Given the description of an element on the screen output the (x, y) to click on. 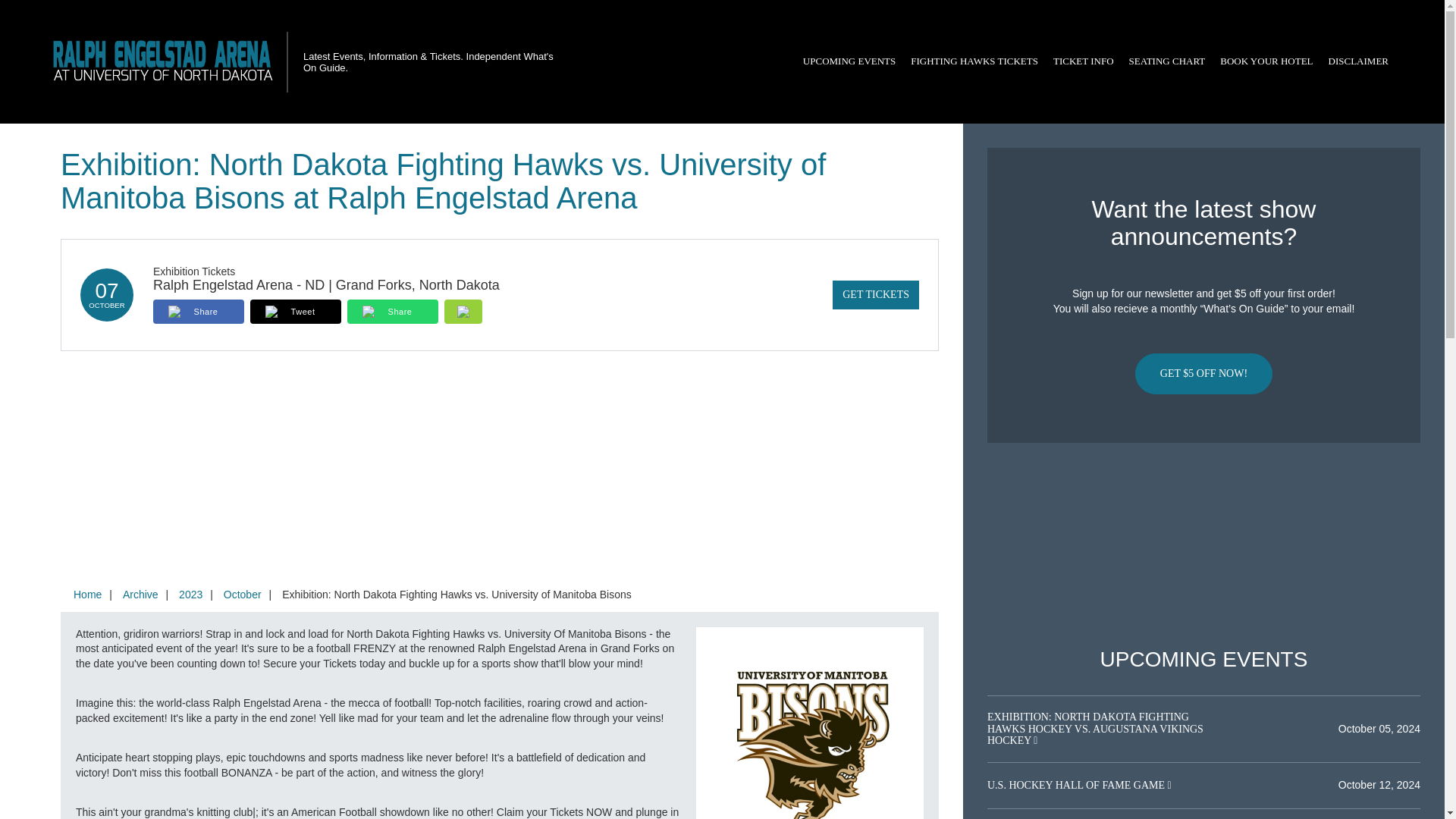
Archive (140, 594)
SEATING CHART (1166, 61)
GET TICKETS (875, 294)
BOOK YOUR HOTEL (1266, 61)
Home (87, 594)
DISCLAIMER (1358, 61)
2023 (190, 594)
October (242, 594)
FIGHTING HAWKS TICKETS (973, 61)
UPCOMING EVENTS (848, 61)
